Given the description of an element on the screen output the (x, y) to click on. 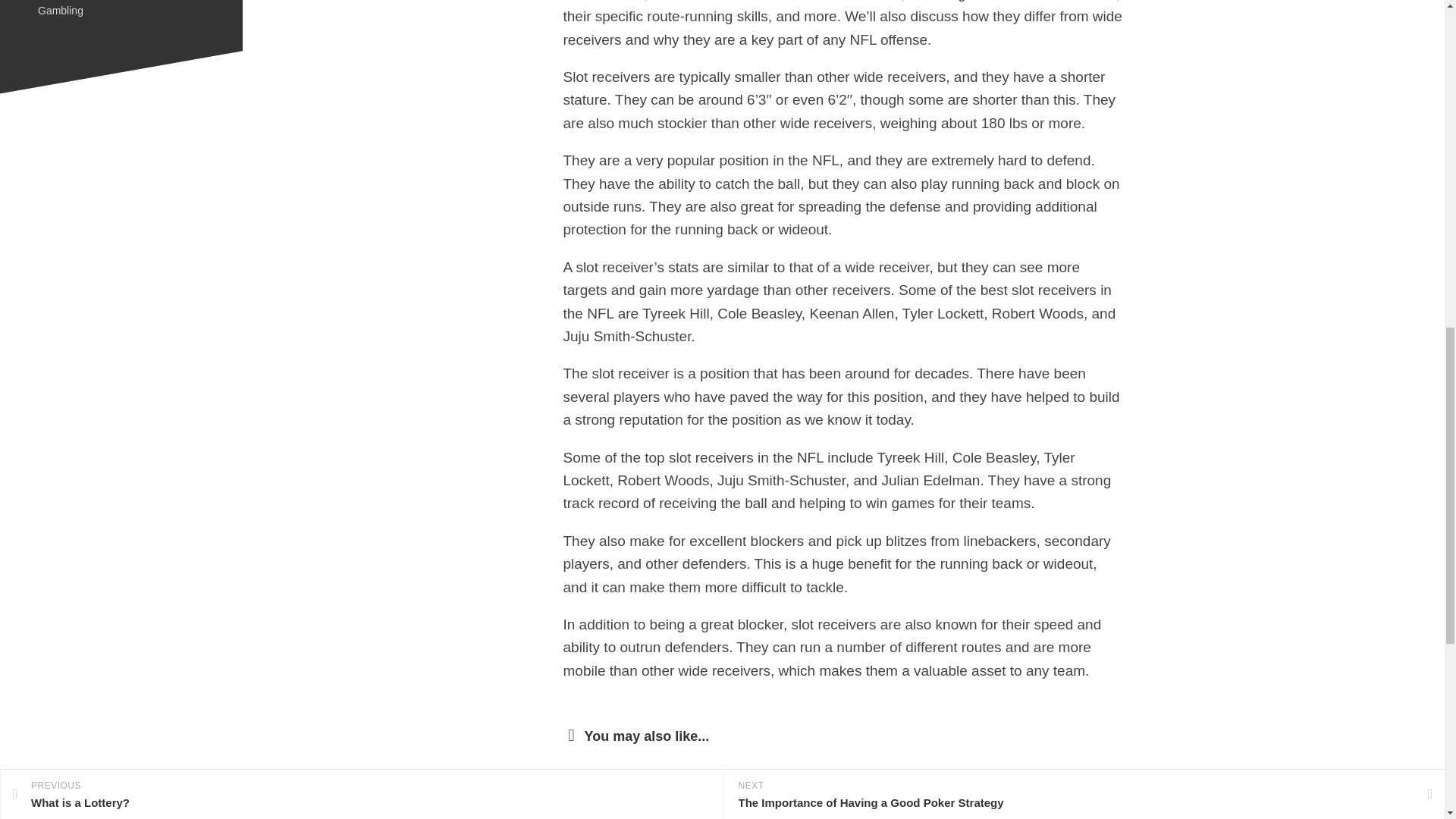
Gambling (59, 10)
